Given the description of an element on the screen output the (x, y) to click on. 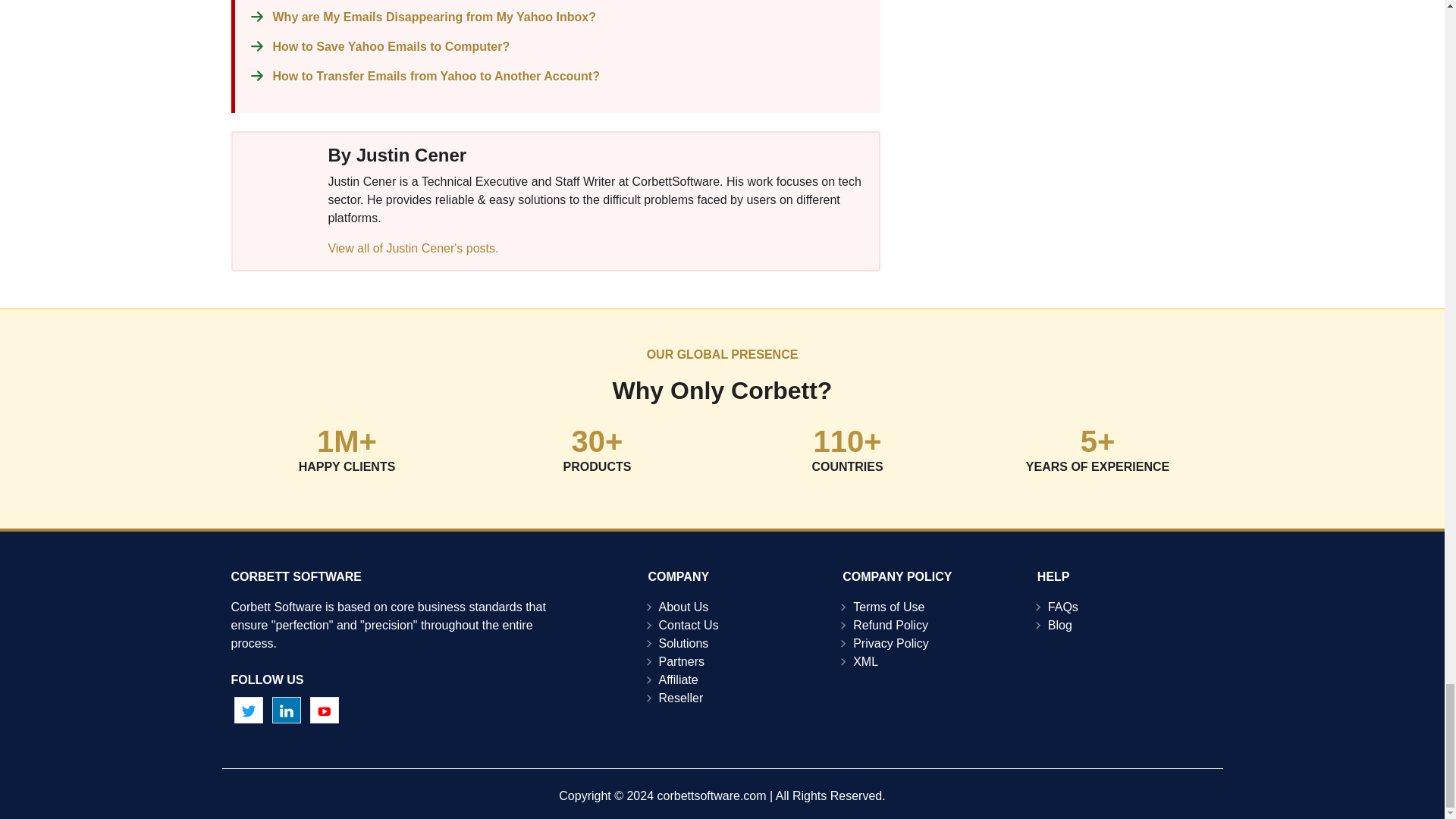
How to Save Yahoo Emails to Computer? (392, 46)
View all of Justin Cener's posts. (412, 247)
Linkein (286, 709)
How to Transfer Emails from Yahoo to Another Account? (436, 75)
twitter (247, 709)
Youtube (324, 709)
Why are My Emails Disappearing from My Yahoo Inbox? (434, 16)
